Given the description of an element on the screen output the (x, y) to click on. 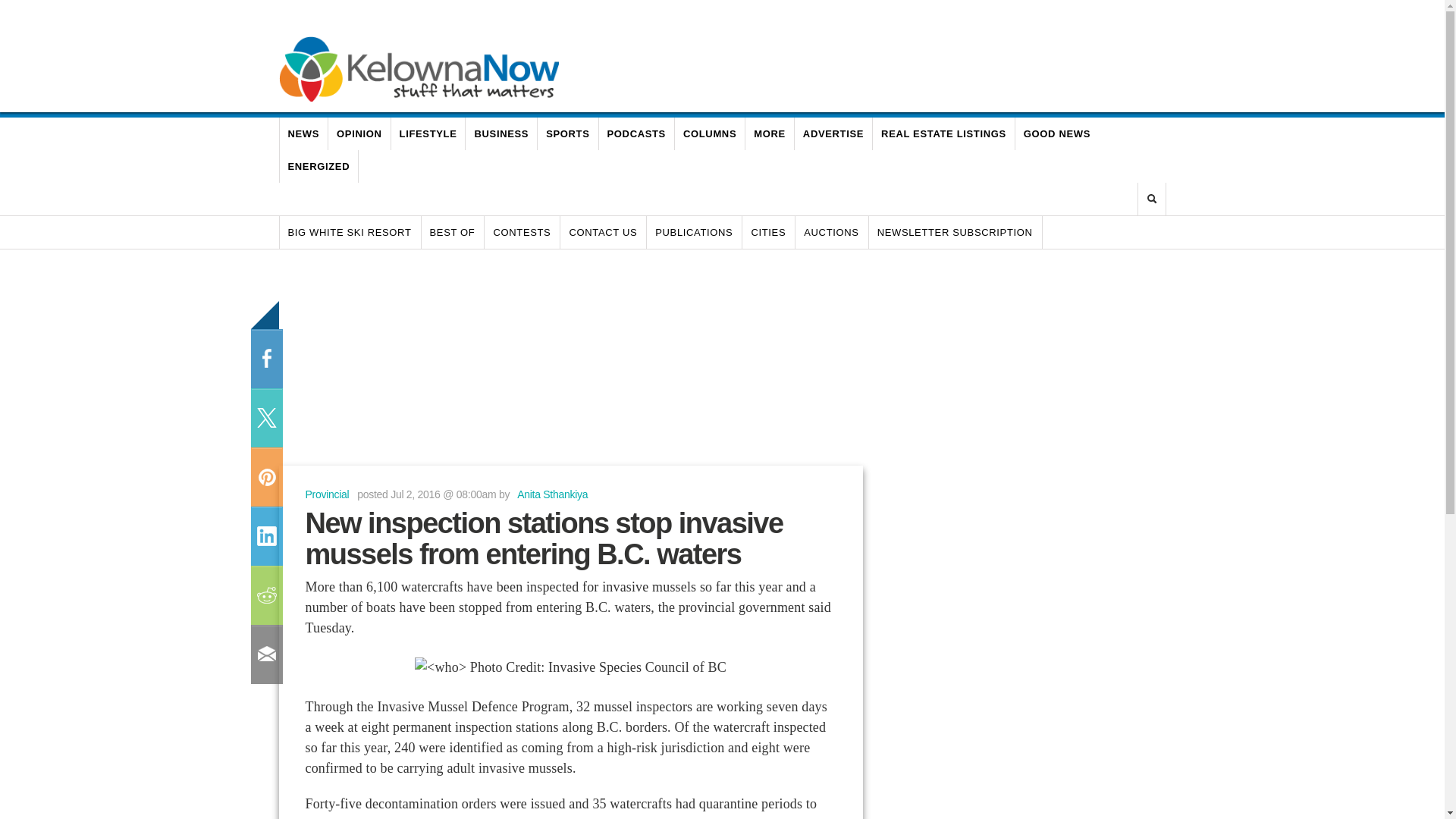
Share with email (266, 654)
KelownaNow (419, 68)
Share on LinkedIn (266, 536)
Share on Twitter (266, 417)
Share on Pintrest (266, 476)
Share on Reddit (266, 595)
Share on Facebook (266, 358)
